Given the description of an element on the screen output the (x, y) to click on. 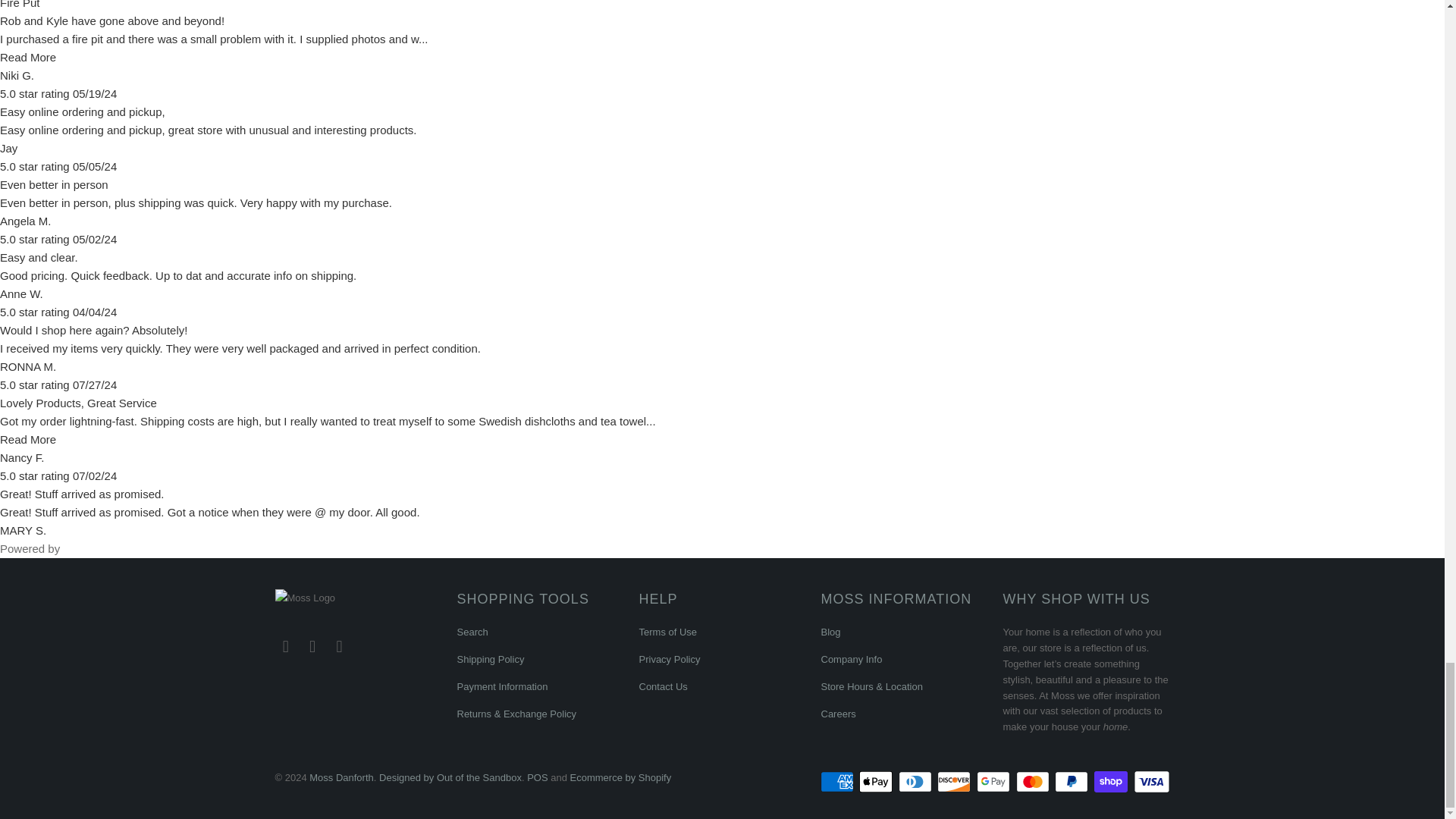
Moss Danforth on Facebook (286, 647)
Shop Pay (1112, 781)
PayPal (1072, 781)
Email Moss Danforth (339, 647)
Visa (1150, 781)
Google Pay (994, 781)
Discover (955, 781)
Mastercard (1034, 781)
American Express (839, 781)
Moss Danforth on Instagram (312, 647)
